Given the description of an element on the screen output the (x, y) to click on. 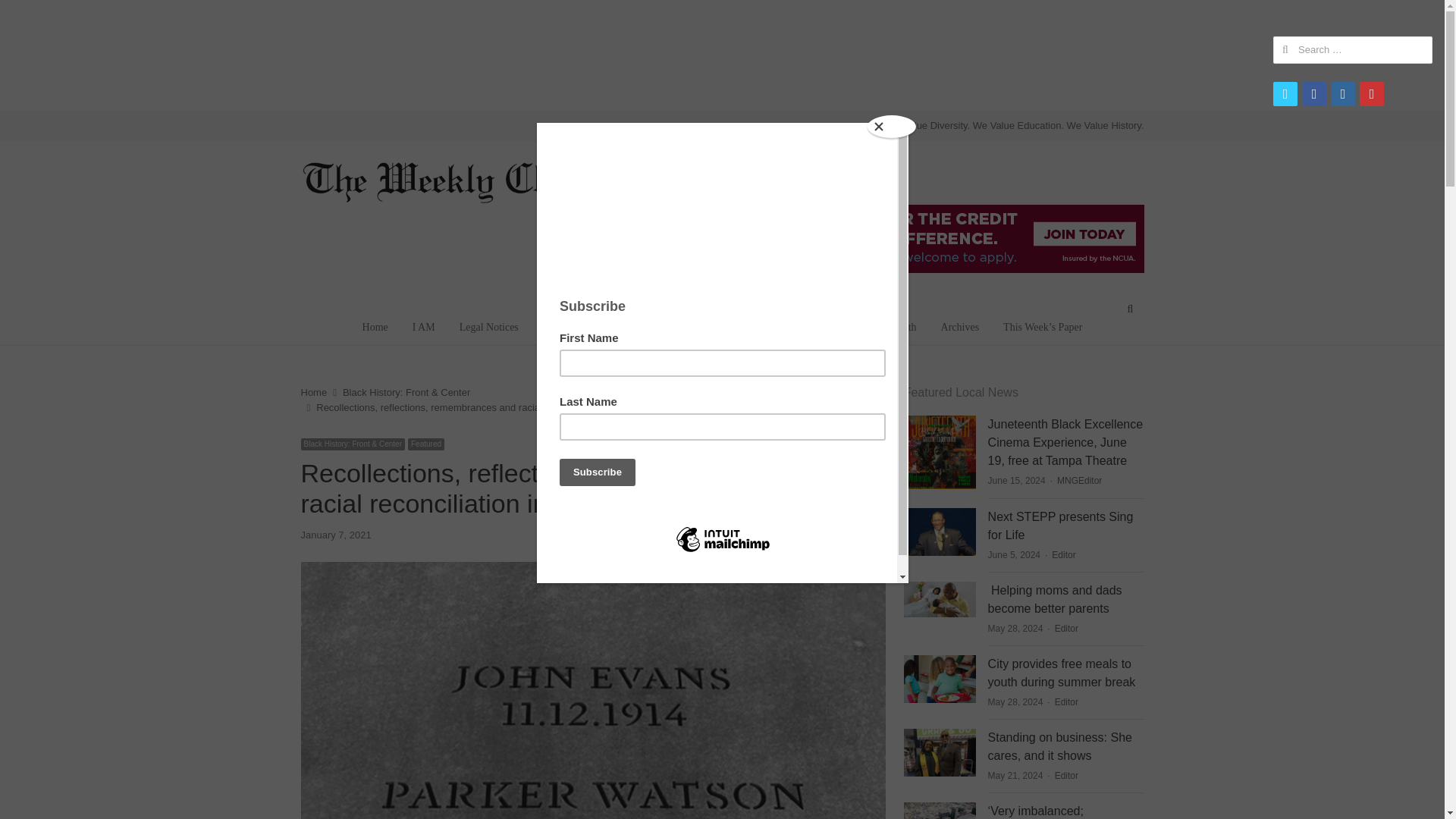
I AM (423, 327)
advertisement (721, 52)
Home (375, 327)
Money Matters (699, 327)
Legal Notices (488, 327)
